Given the description of an element on the screen output the (x, y) to click on. 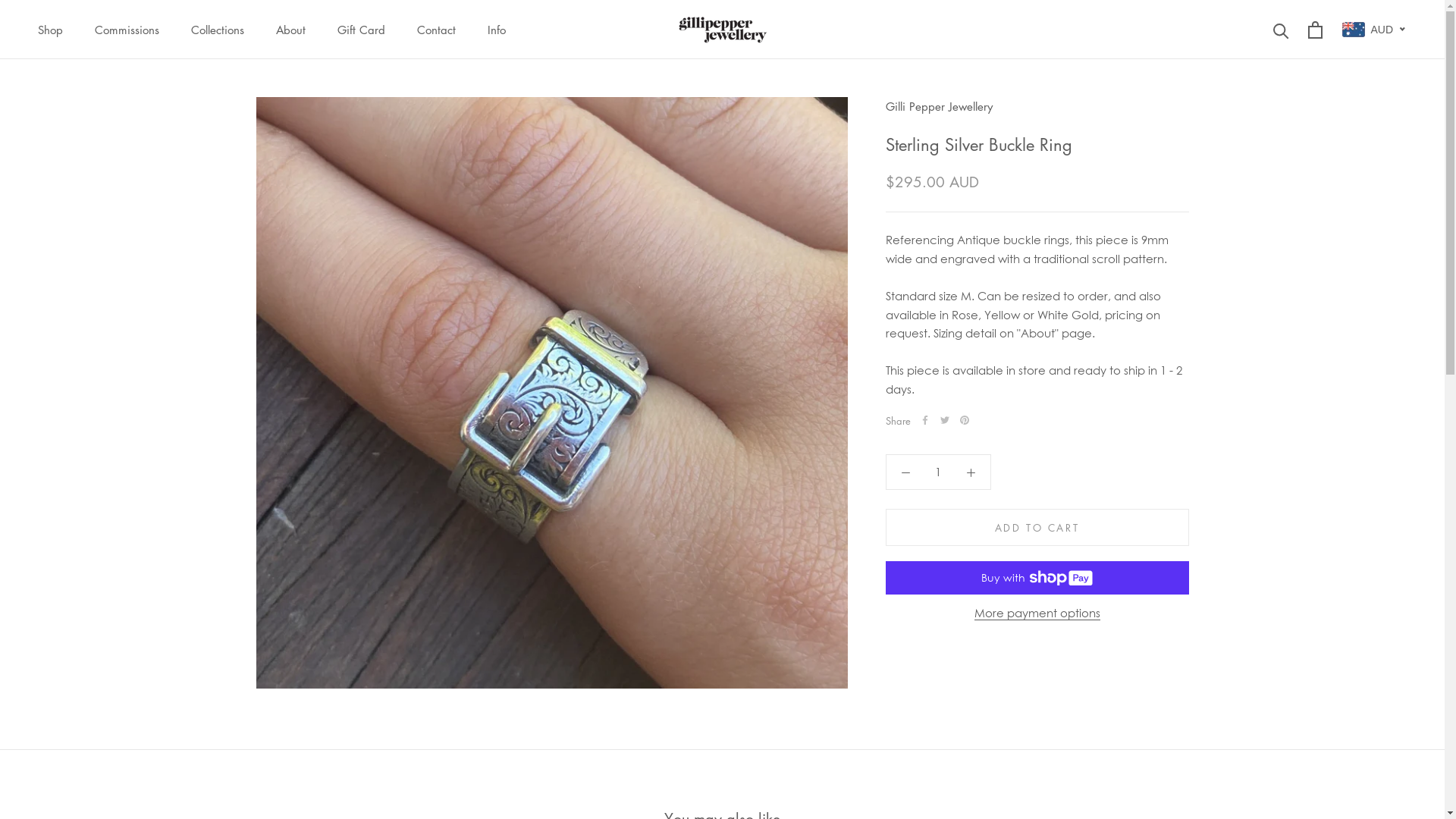
Contact
Contact Element type: text (436, 29)
Gift Card
Gift Card Element type: text (361, 29)
Collections Element type: text (217, 29)
More payment options Element type: text (1036, 612)
Shop Element type: text (49, 29)
Info Element type: text (496, 29)
Commissions
Commissions Element type: text (126, 29)
About
About Element type: text (290, 29)
ADD TO CART Element type: text (1037, 527)
